Given the description of an element on the screen output the (x, y) to click on. 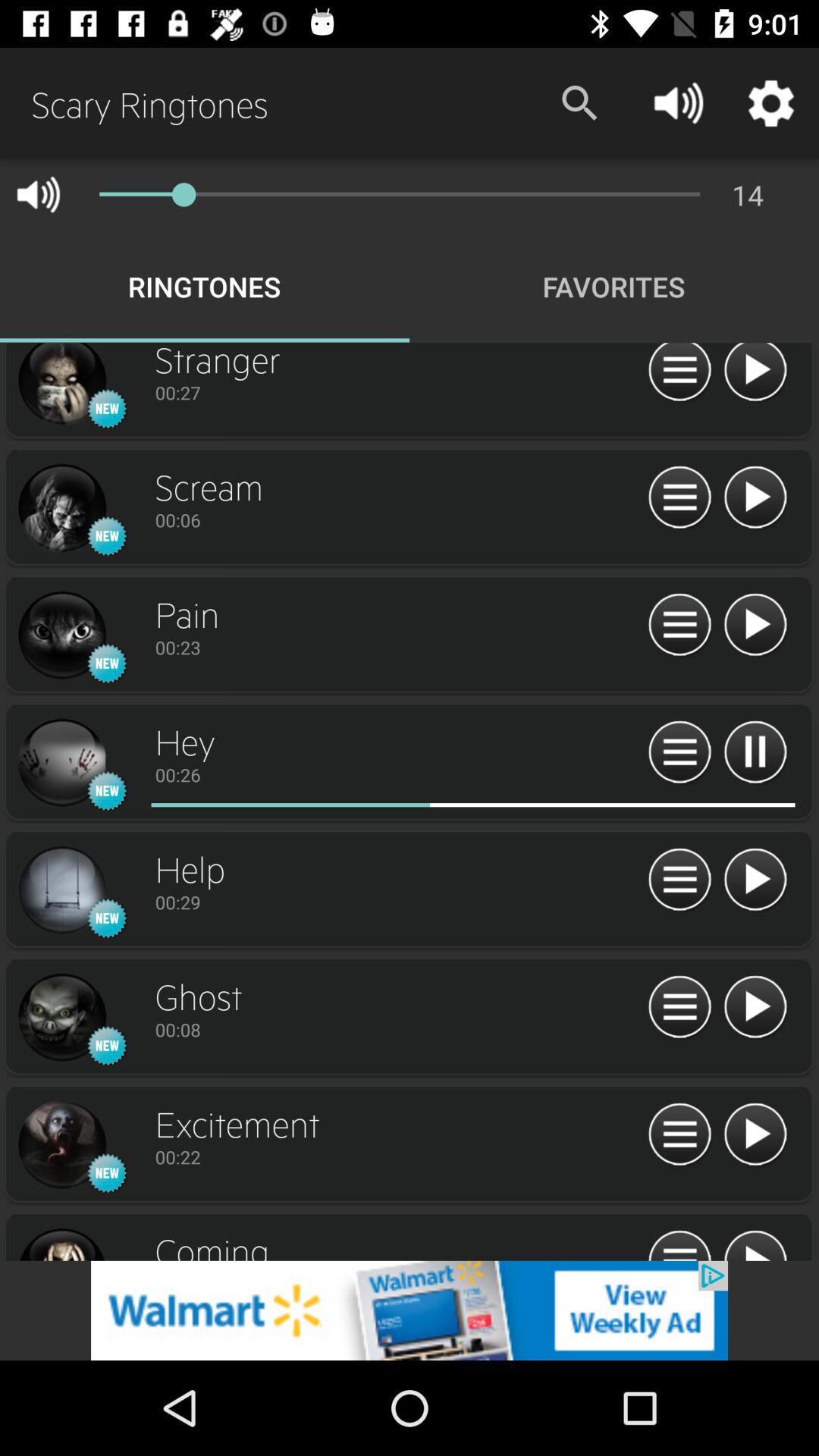
go to previous (755, 498)
